Given the description of an element on the screen output the (x, y) to click on. 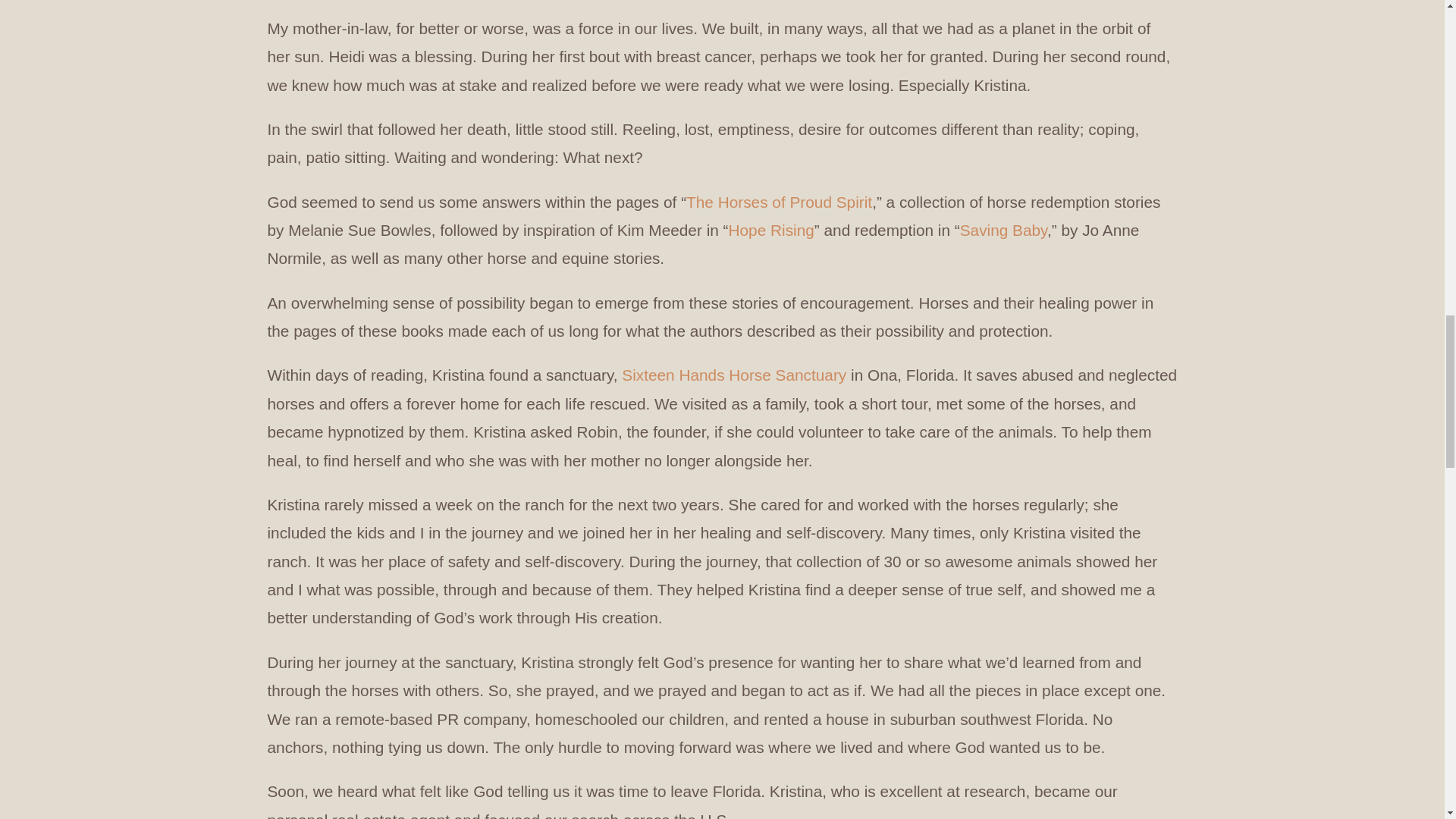
Saving Baby (1002, 232)
Hope Rising (771, 233)
Sixteen Hands Horse Sanctuary (733, 377)
The Horses of Proud Spirit (778, 205)
